Given the description of an element on the screen output the (x, y) to click on. 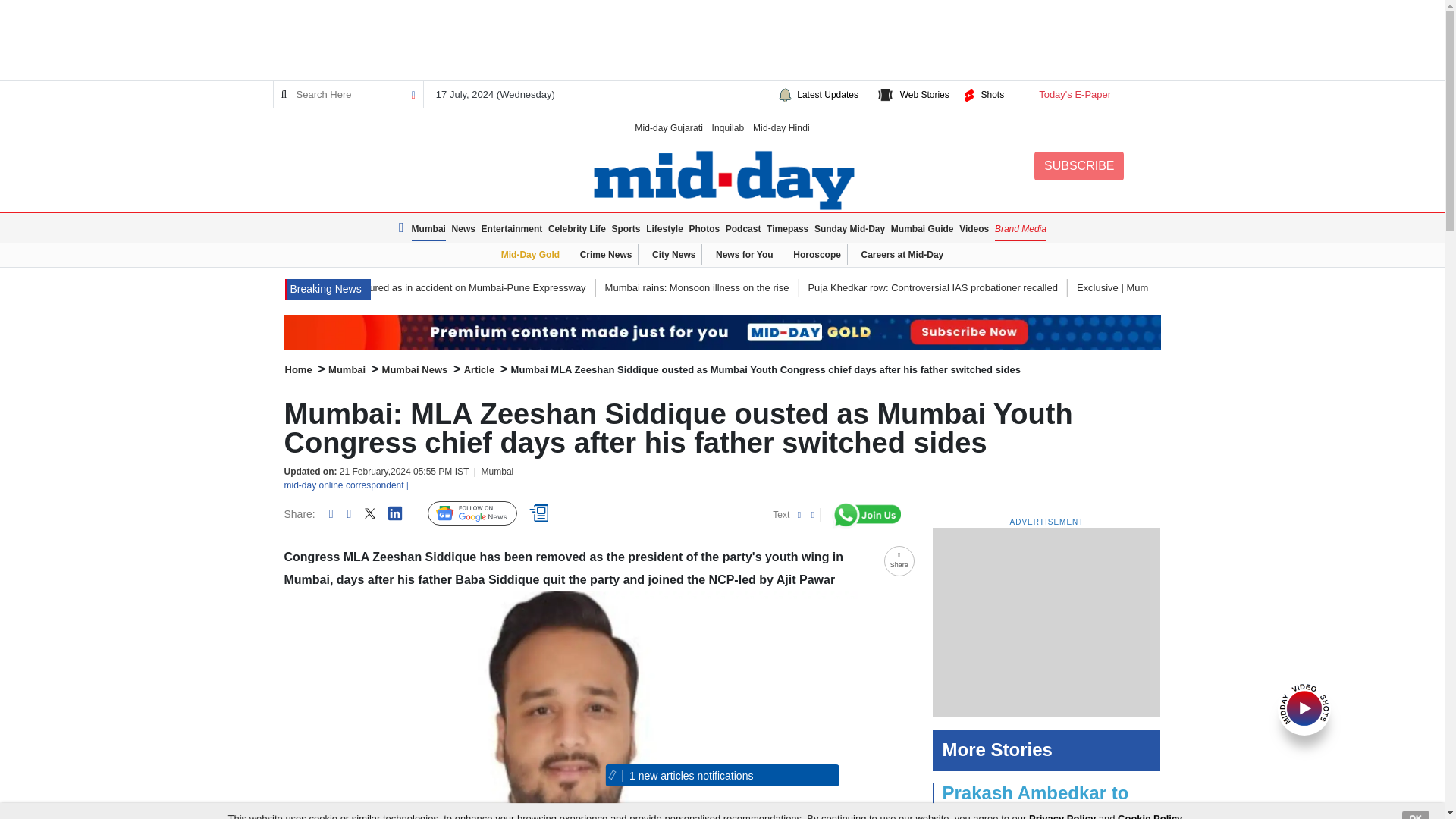
Inquilab (728, 127)
Shots (991, 94)
Midday Shot Videos (1304, 706)
Reset font size (796, 514)
Subscription (721, 332)
Increase font size (809, 514)
Latest Updates (827, 94)
Quick Reads (541, 513)
Web Stories (924, 94)
Latest News (328, 289)
Latest News (403, 227)
Mid-day Hindi (780, 127)
Mid-day Gujarati (668, 127)
SUBSCRIBE (1078, 165)
